Given the description of an element on the screen output the (x, y) to click on. 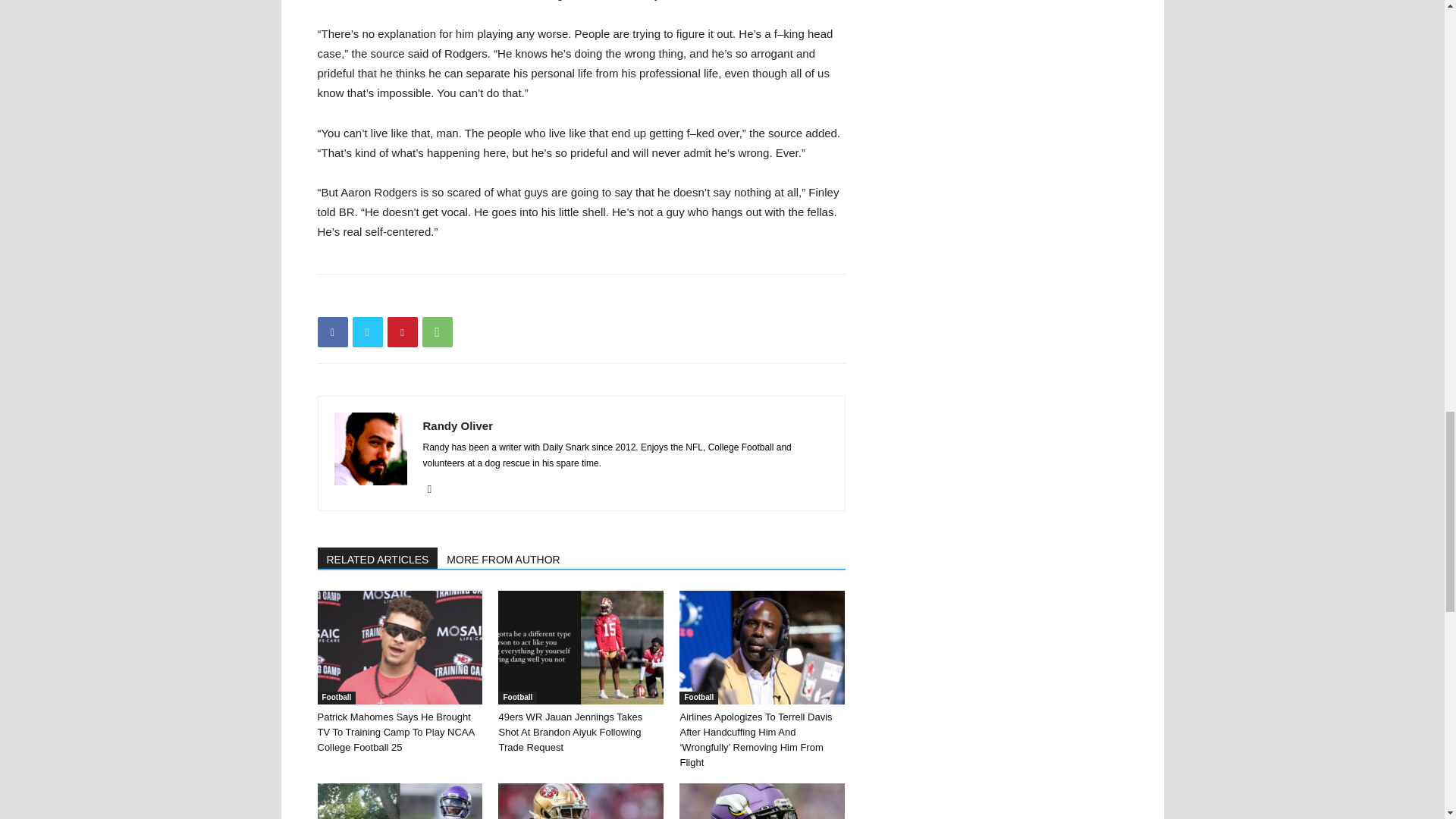
MORE FROM AUTHOR (503, 557)
Randy Oliver (458, 425)
RELATED ARTICLES (377, 557)
Facebook (332, 331)
bottomFacebookLike (430, 298)
